Given the description of an element on the screen output the (x, y) to click on. 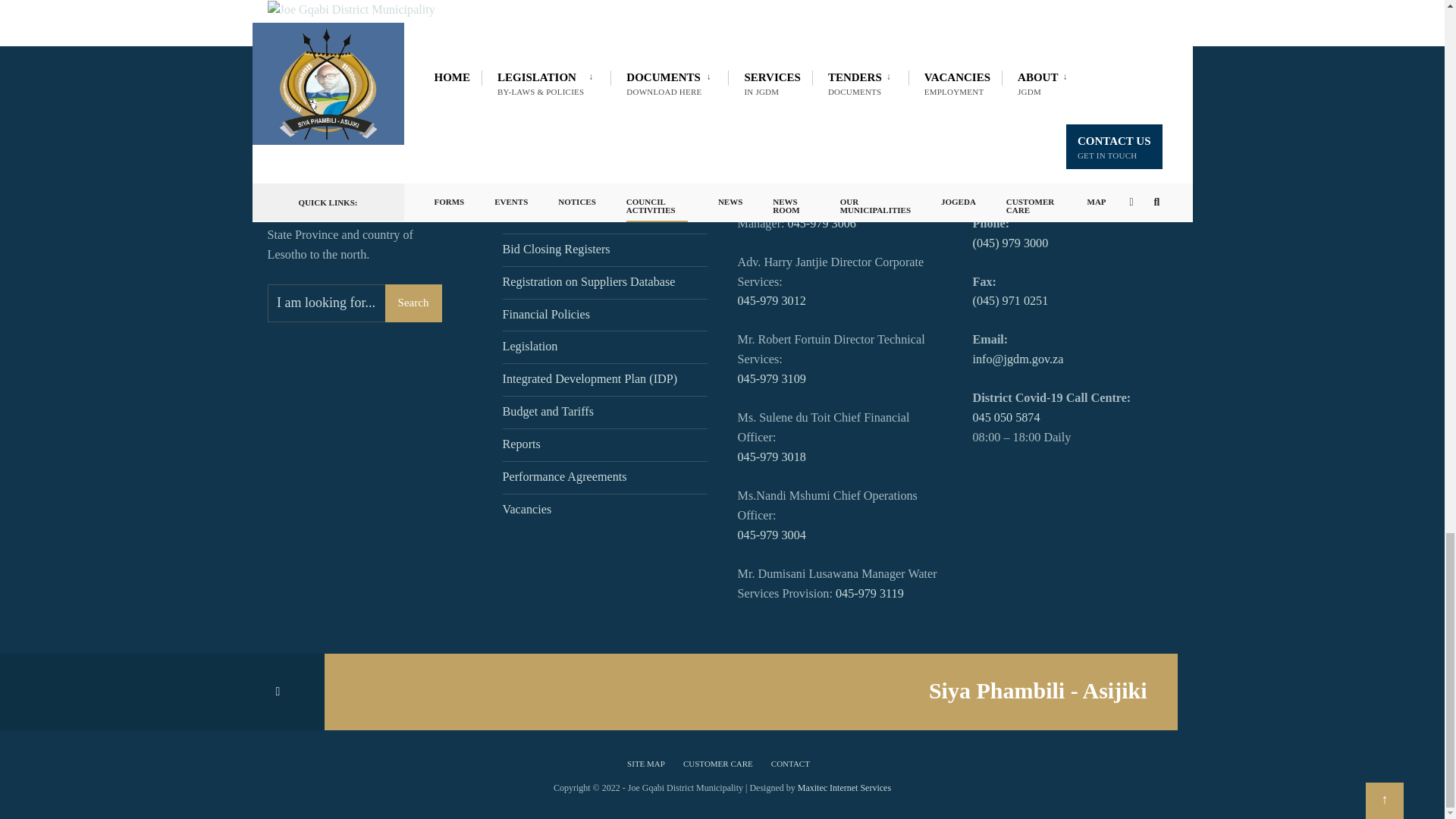
I am looking for... (353, 303)
